Given the description of an element on the screen output the (x, y) to click on. 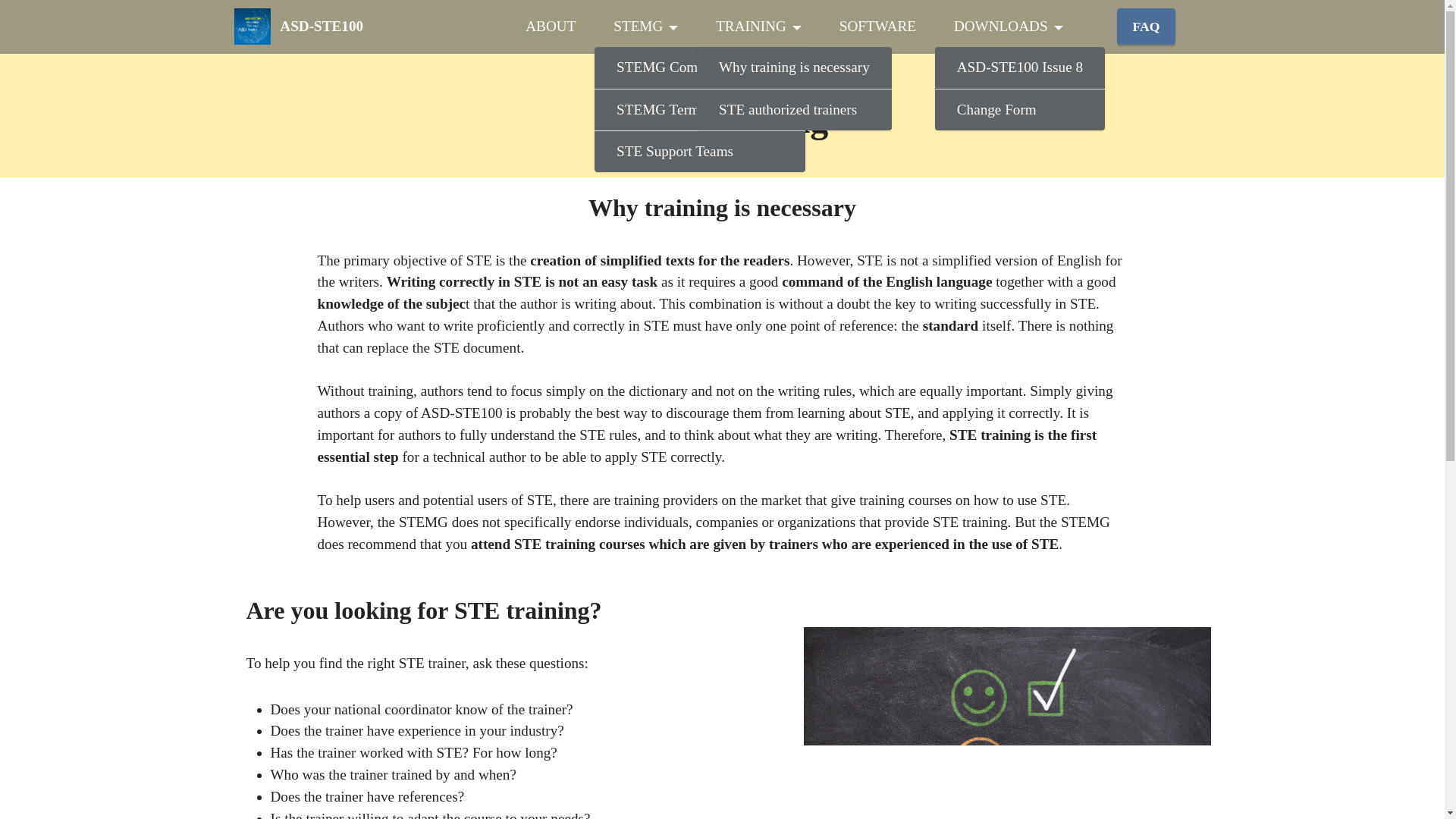
SOFTWARE (877, 26)
STEMG Terms of Reference (699, 110)
ABOUT (550, 26)
STE authorized trainers (794, 109)
STE Support Teams (699, 151)
STEMG Composition (699, 67)
FAQ (1145, 26)
Change Form (1019, 109)
TRAINING (758, 26)
Why training is necessary (794, 67)
